Given the description of an element on the screen output the (x, y) to click on. 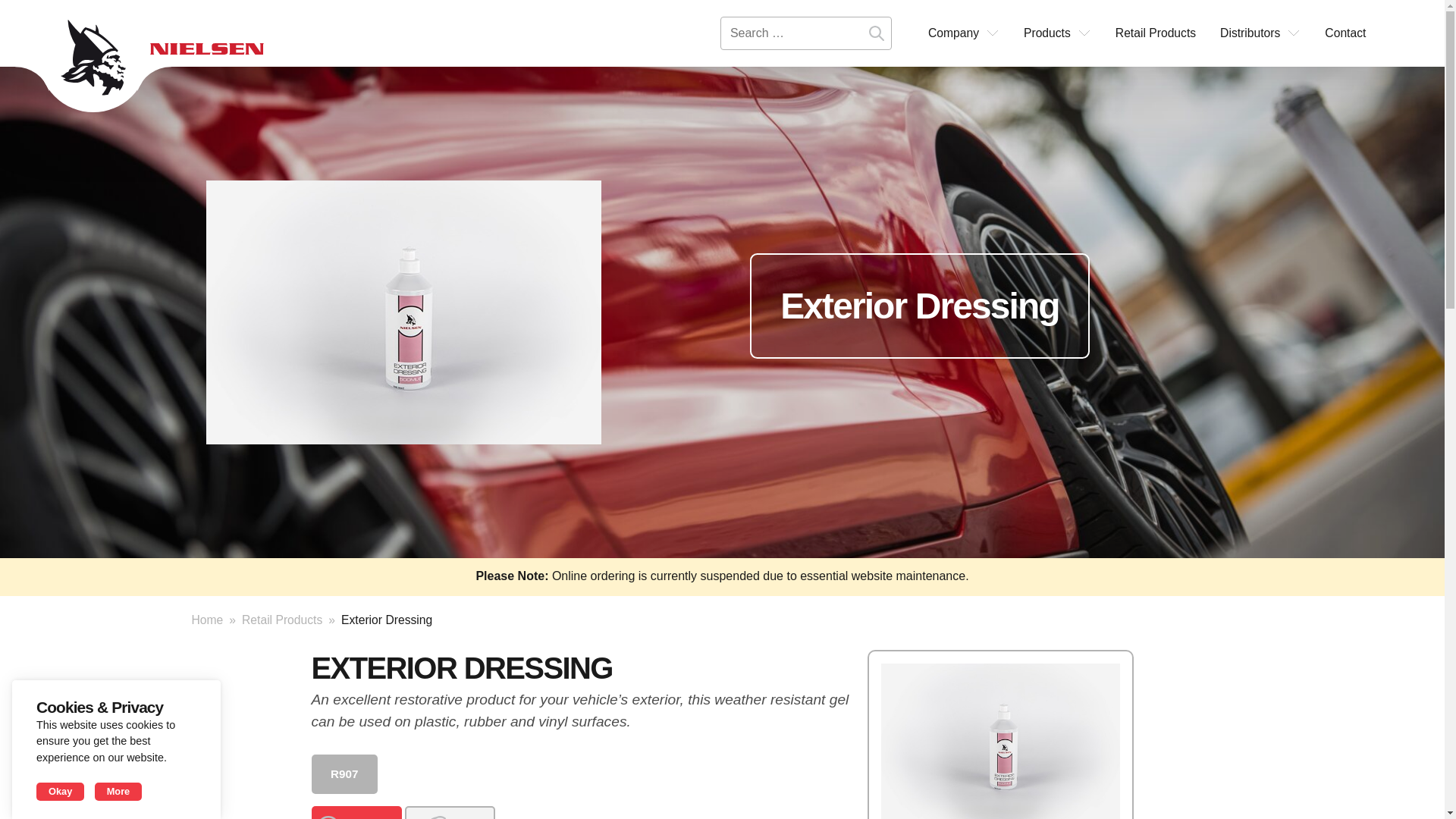
Company (963, 33)
Products (1057, 33)
Exterior Dressing 1 (403, 312)
Search for: (805, 32)
Retail Products (1155, 33)
